Given the description of an element on the screen output the (x, y) to click on. 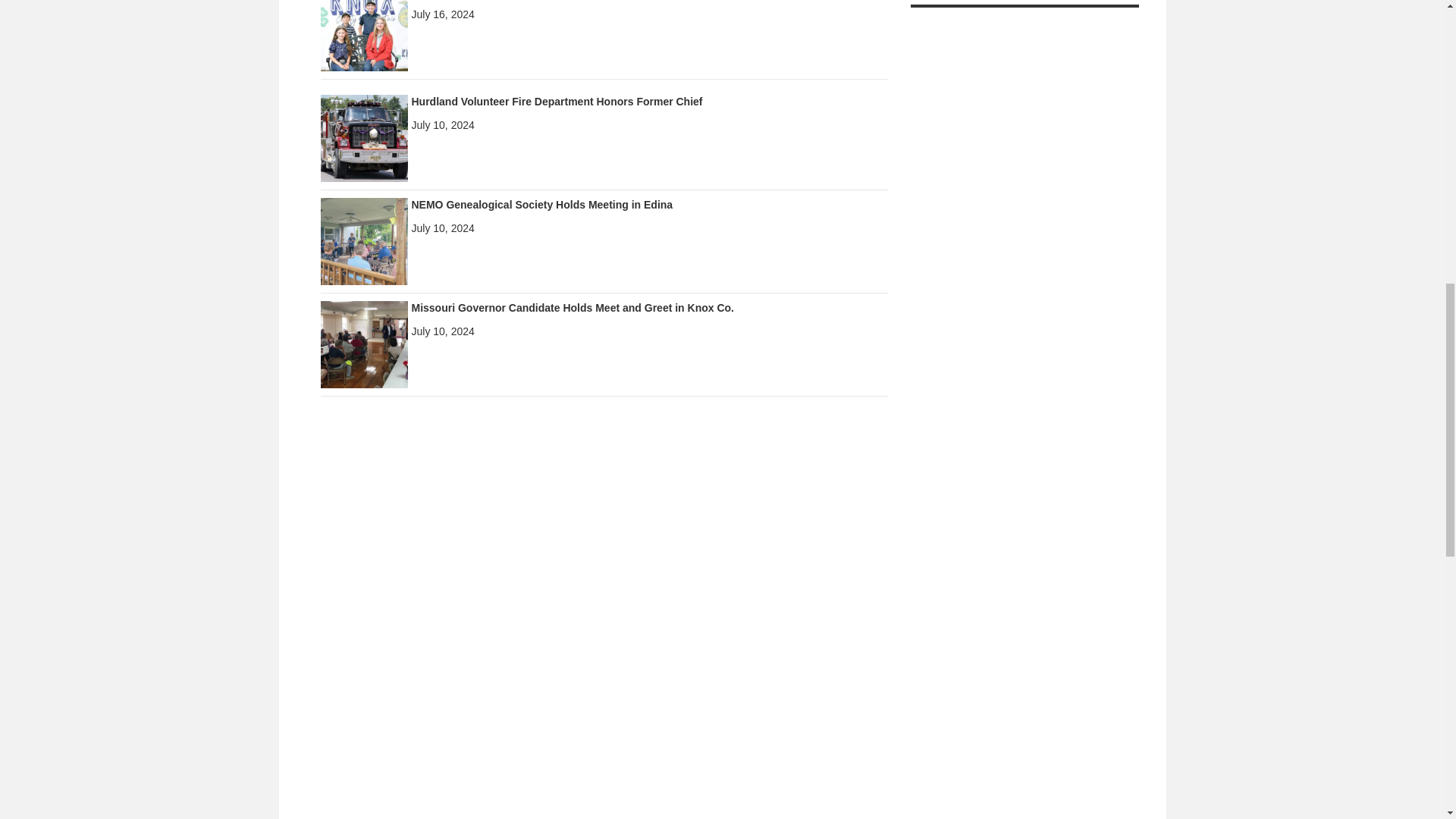
Hurdland Volunteer Fire Department Honors Former Chief (555, 101)
Hurdland Volunteer Fire Department Honors Former Chief (363, 137)
NEMO Genealogical Society Holds Meeting in Edina (541, 204)
Missouri Governor Candidate Holds Meet and Greet in Knox Co. (571, 307)
Missouri Governor Candidate Holds Meet and Greet in Knox Co. (363, 343)
NEMO Genealogical Society Holds Meeting in Edina (363, 240)
